Given the description of an element on the screen output the (x, y) to click on. 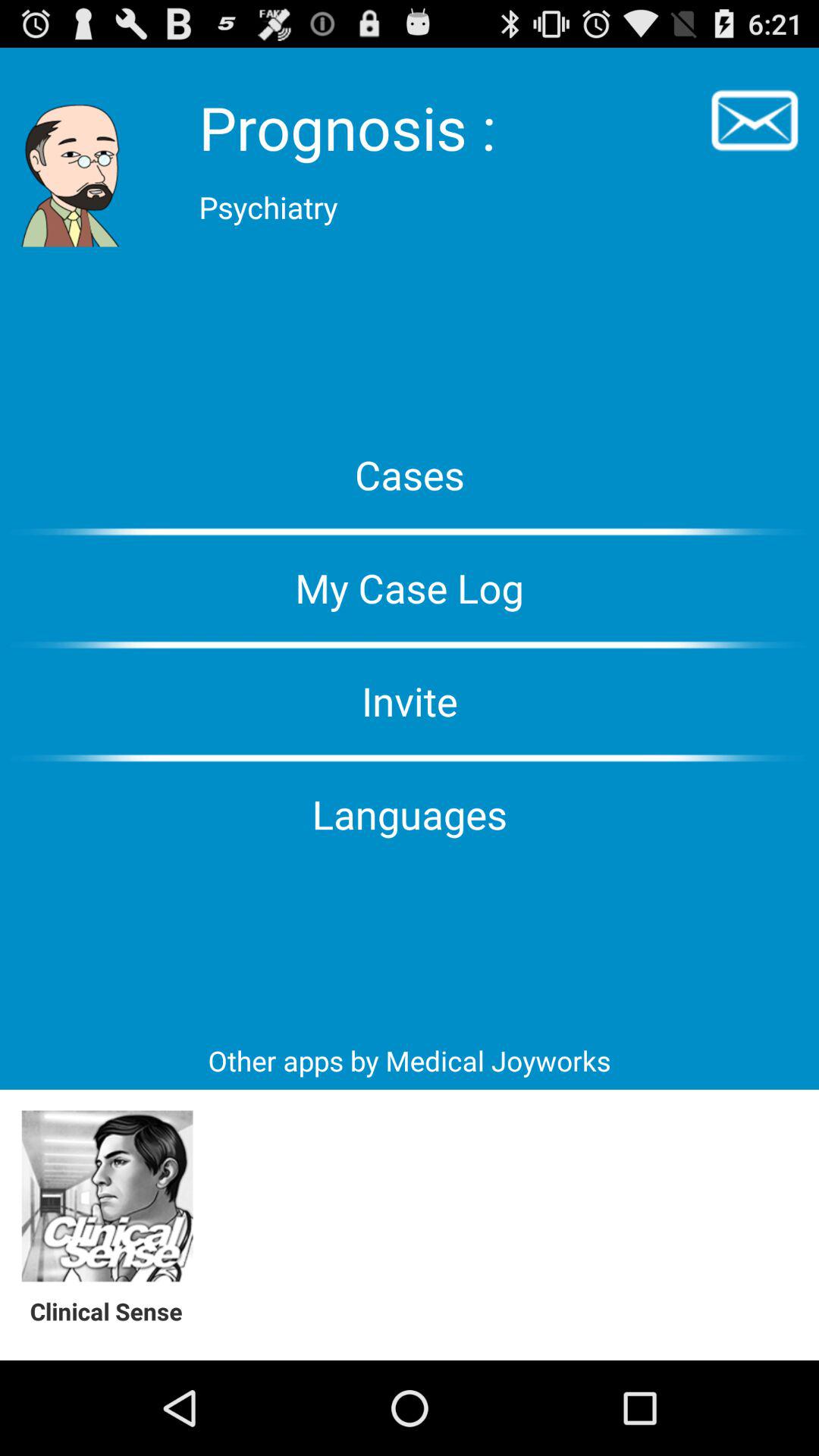
jump until the invite button (409, 700)
